Given the description of an element on the screen output the (x, y) to click on. 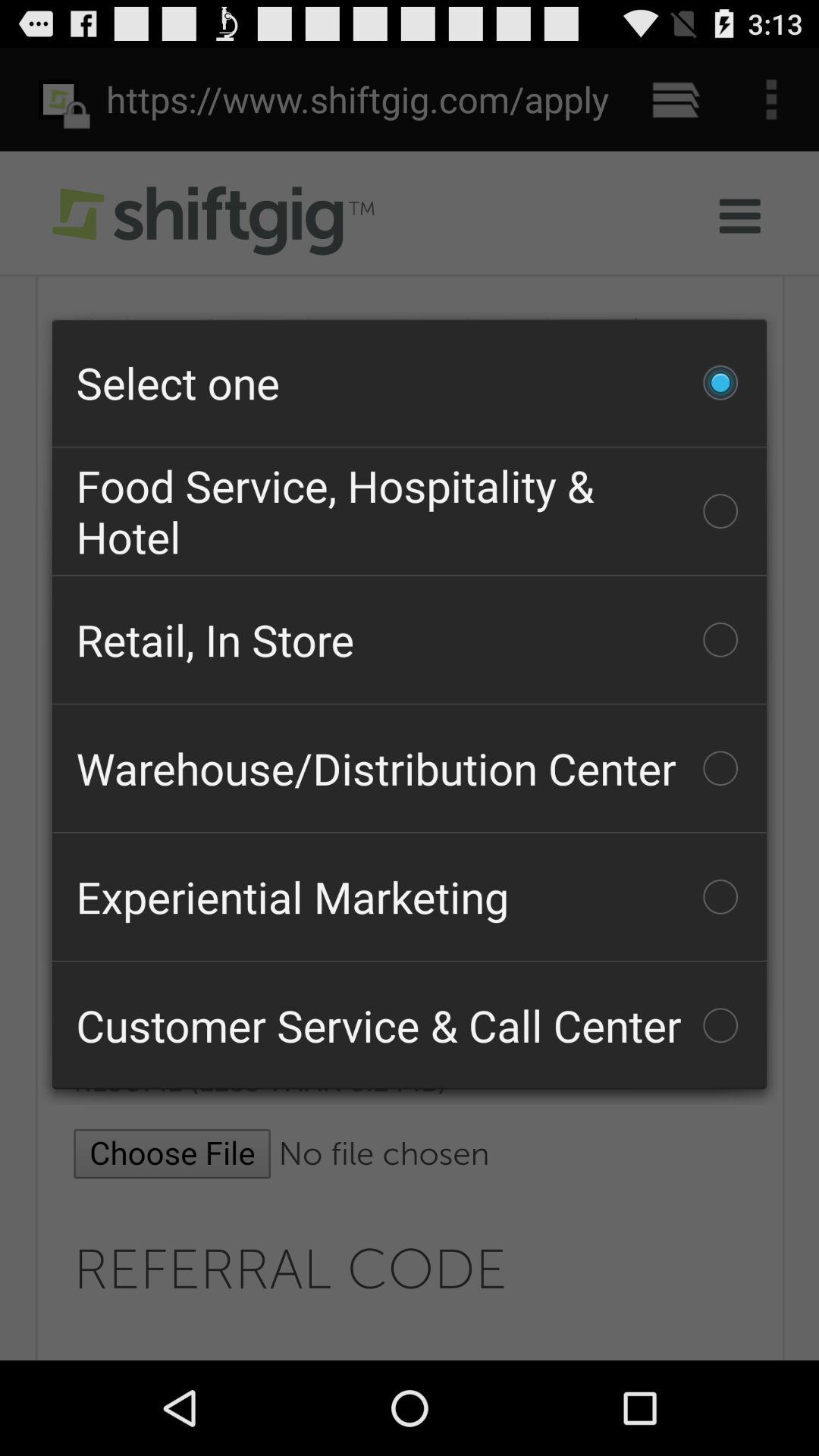
turn off warehouse/distribution center icon (409, 768)
